Given the description of an element on the screen output the (x, y) to click on. 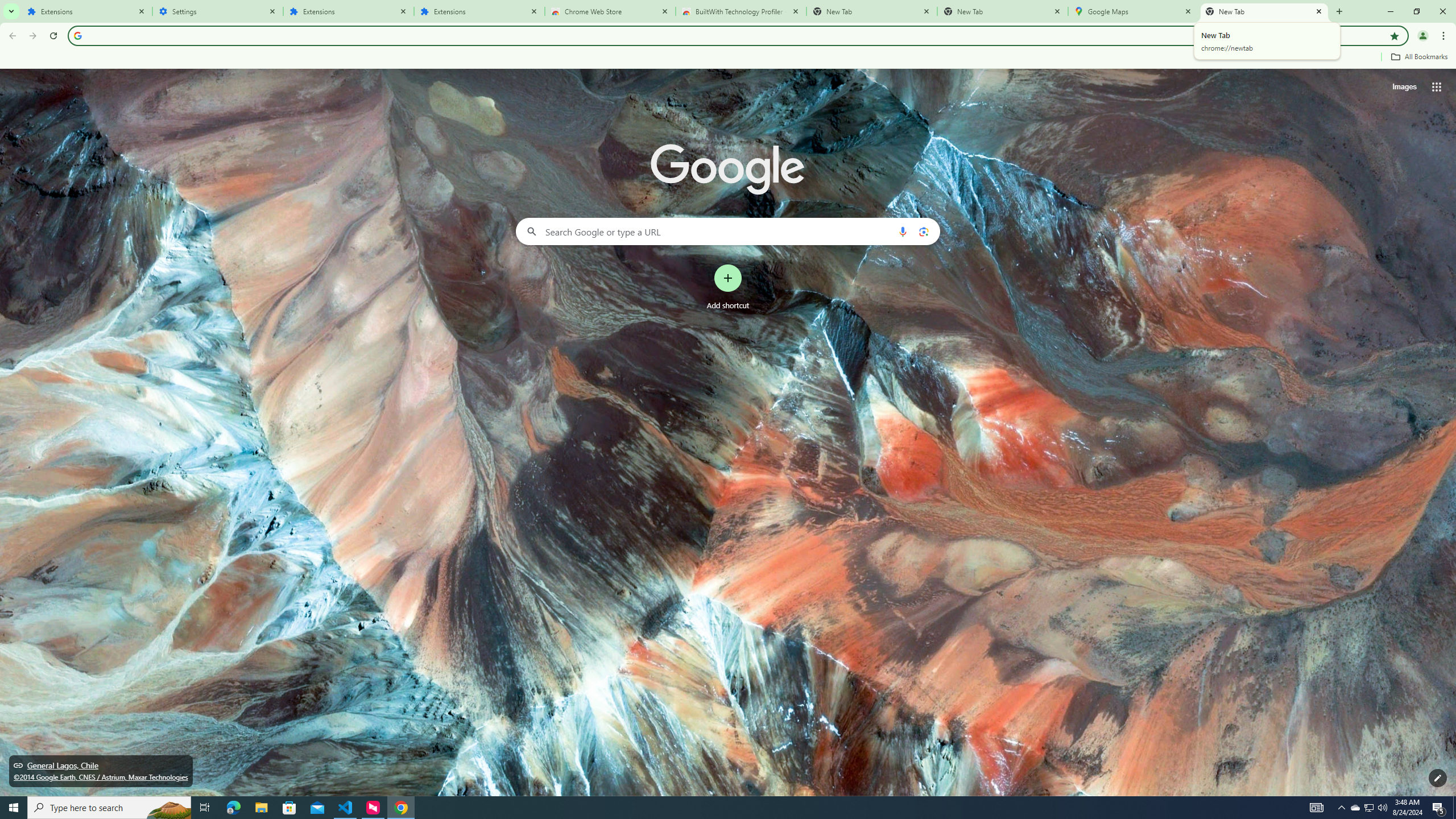
Customize this page (1437, 778)
Extensions (86, 11)
Google Maps (1133, 11)
Extensions (479, 11)
Settings (217, 11)
